Given the description of an element on the screen output the (x, y) to click on. 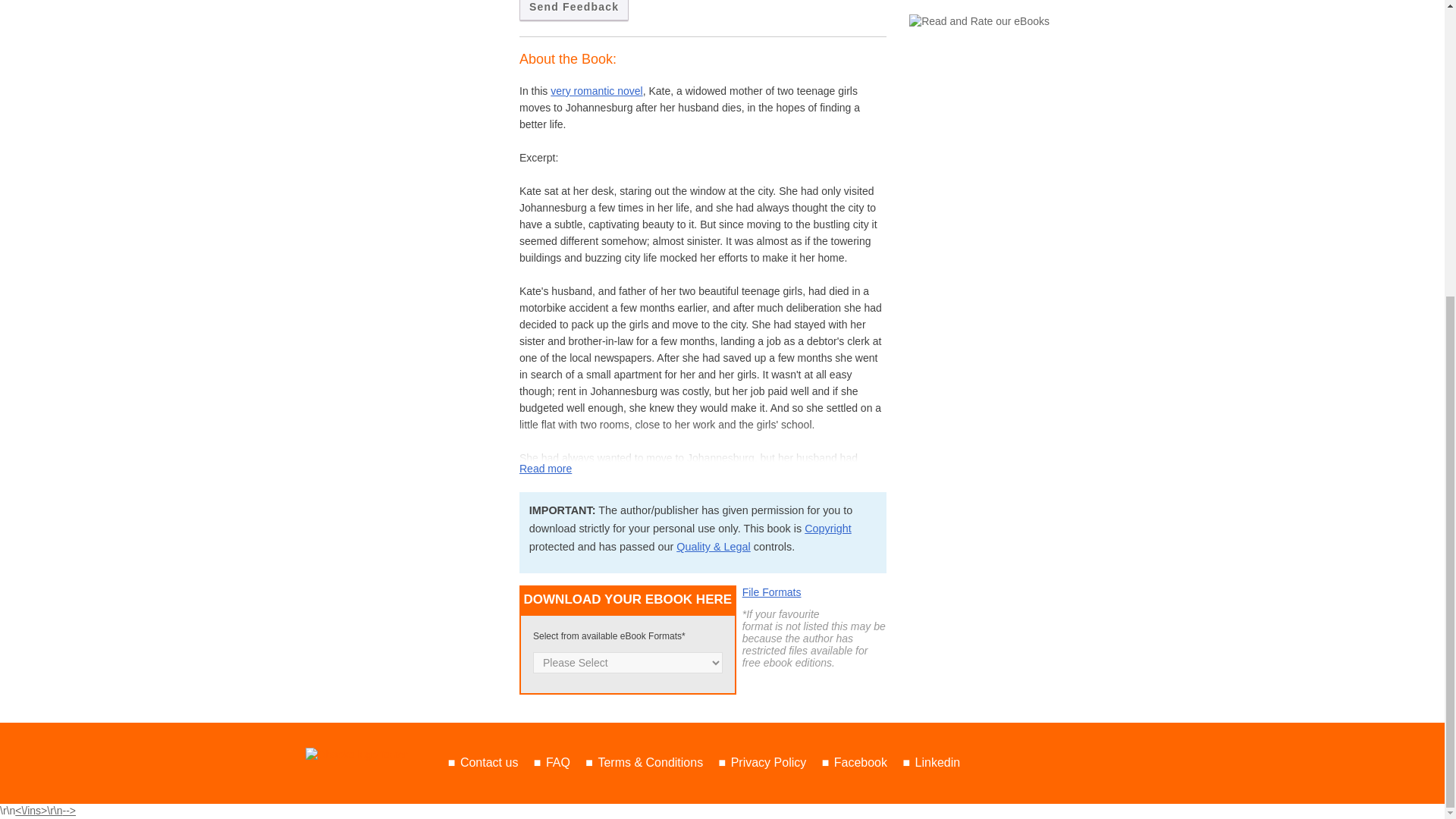
Common Questions and Answers (558, 762)
Read more (545, 468)
Send Feedback (573, 10)
Obooko Facebook (860, 762)
Obooko Logo (355, 754)
Obooko Linkedin (937, 762)
very romantic novel (596, 91)
Send Feedback (573, 10)
Facebook (860, 762)
Copyright (828, 528)
Linkedin (937, 762)
Get in touch with obooko (489, 762)
File Formats (772, 592)
Privacy Policy (768, 762)
FAQ (558, 762)
